Given the description of an element on the screen output the (x, y) to click on. 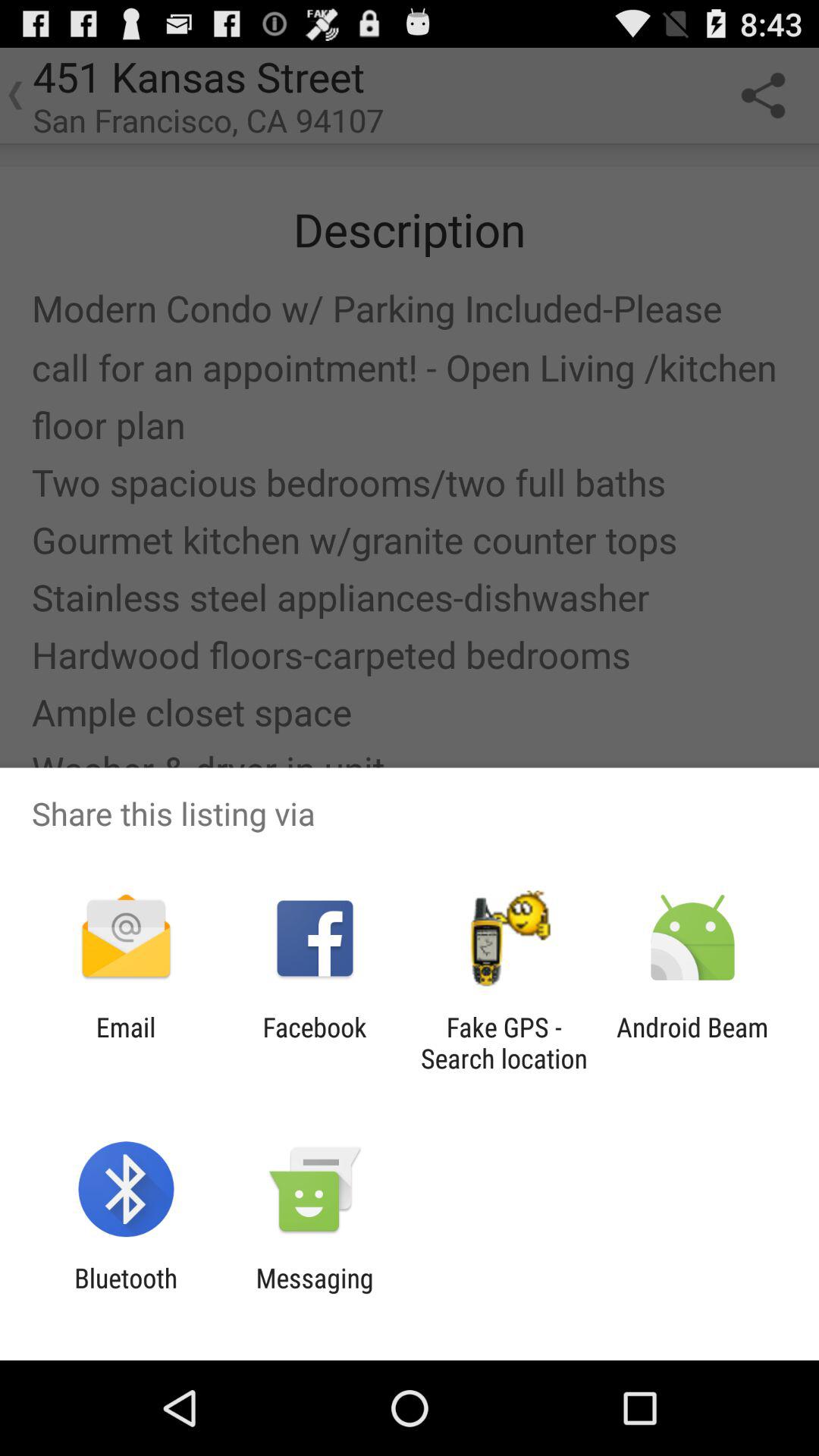
select the facebook icon (314, 1042)
